Given the description of an element on the screen output the (x, y) to click on. 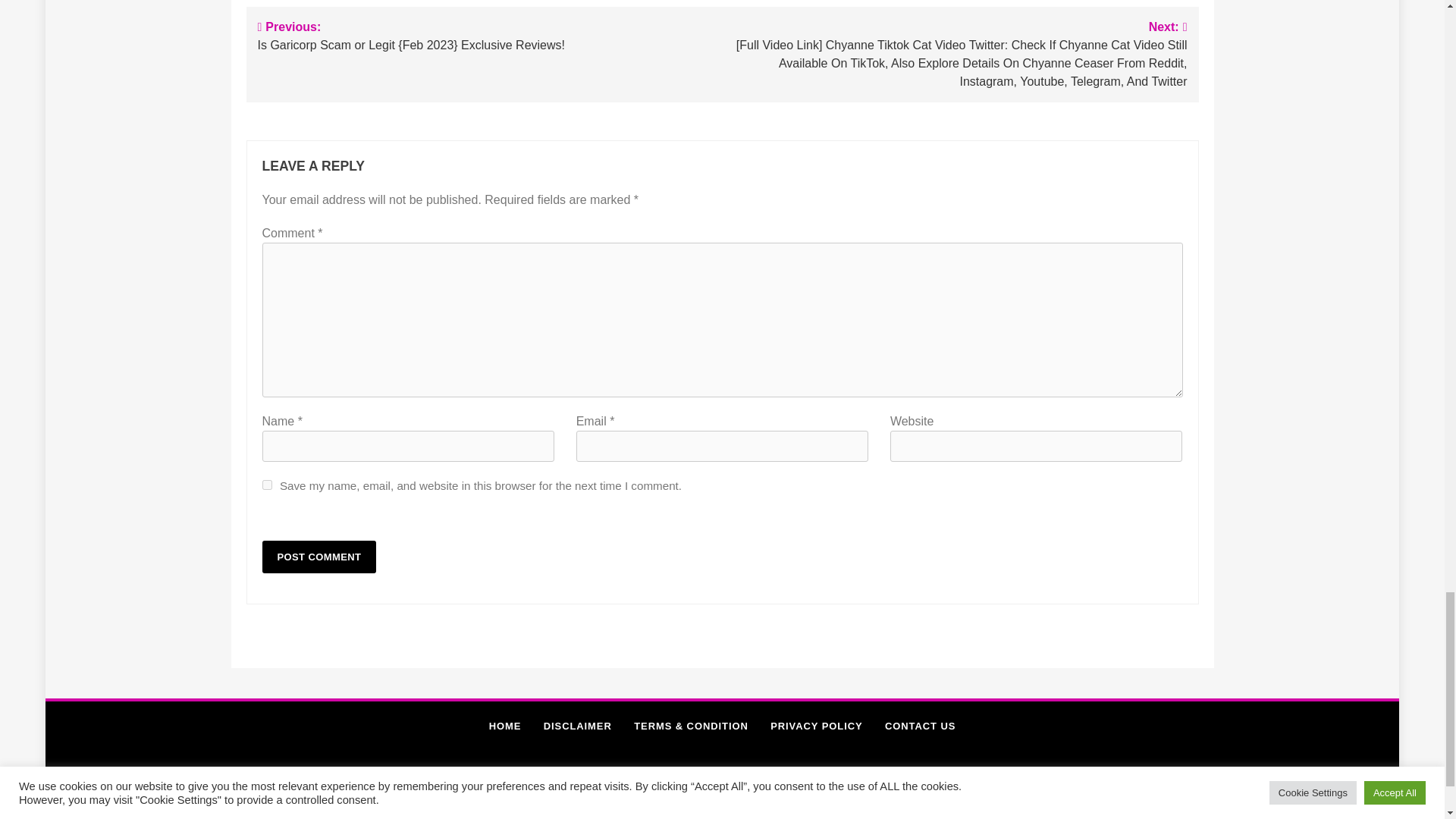
Post Comment (319, 556)
yes (267, 484)
Post Comment (319, 556)
